Given the description of an element on the screen output the (x, y) to click on. 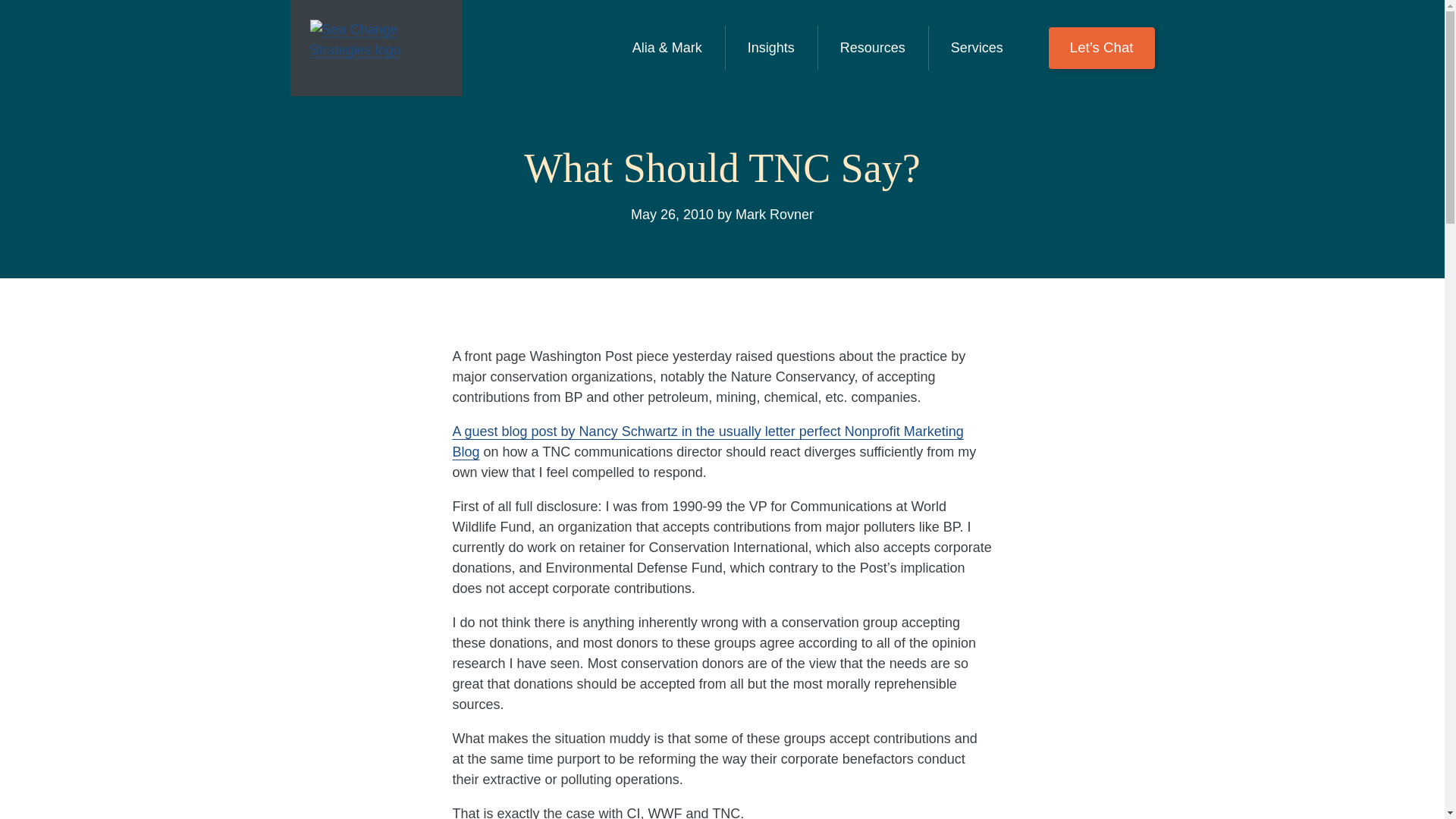
Resources (872, 48)
Services (976, 48)
Insights (771, 48)
